Given the description of an element on the screen output the (x, y) to click on. 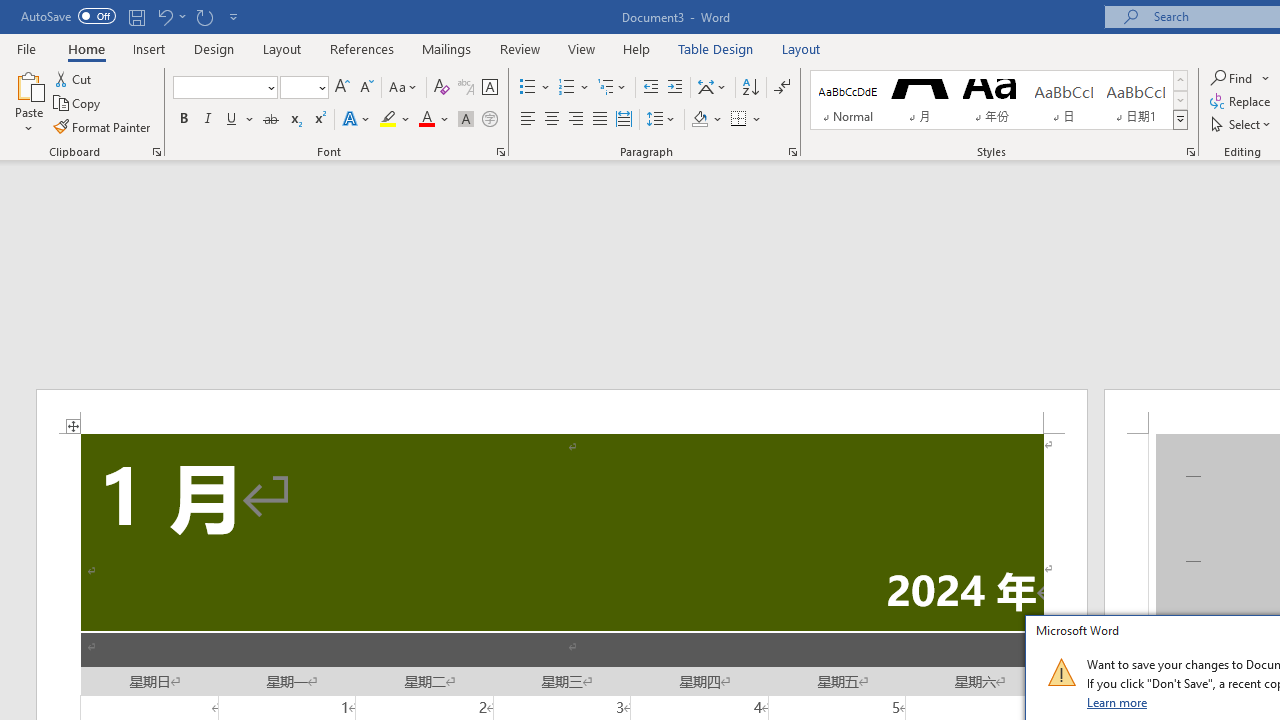
Bullets (527, 87)
Home (86, 48)
System (10, 11)
Customize Quick Access Toolbar (234, 15)
Office Clipboard... (156, 151)
Font Color (434, 119)
Learn more (1118, 702)
Row up (1179, 79)
Mailings (447, 48)
Font (224, 87)
Format Painter (103, 126)
Help (637, 48)
Quick Access Toolbar (131, 16)
Find (1240, 78)
